Given the description of an element on the screen output the (x, y) to click on. 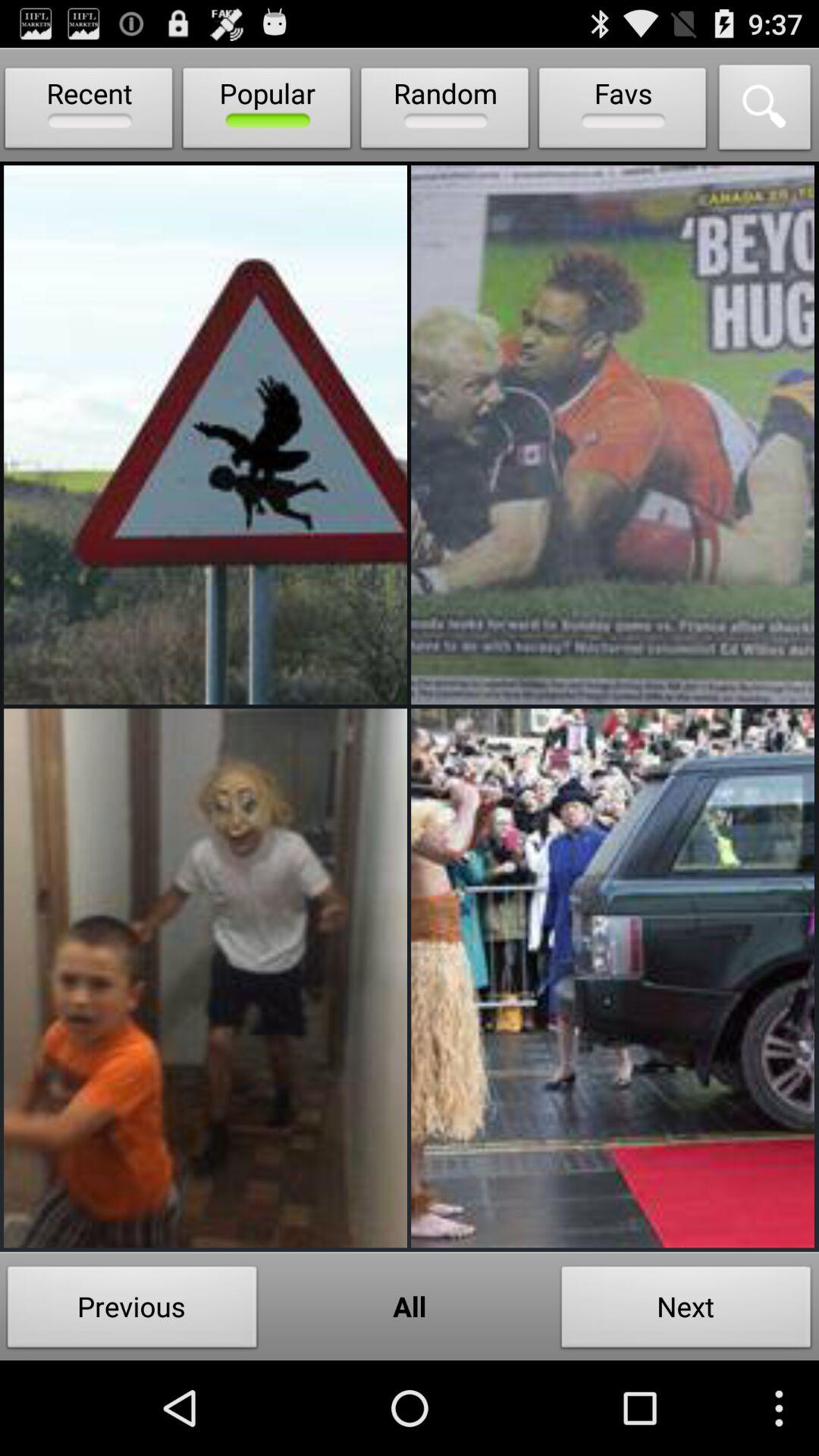
click the item next to the random item (267, 111)
